Given the description of an element on the screen output the (x, y) to click on. 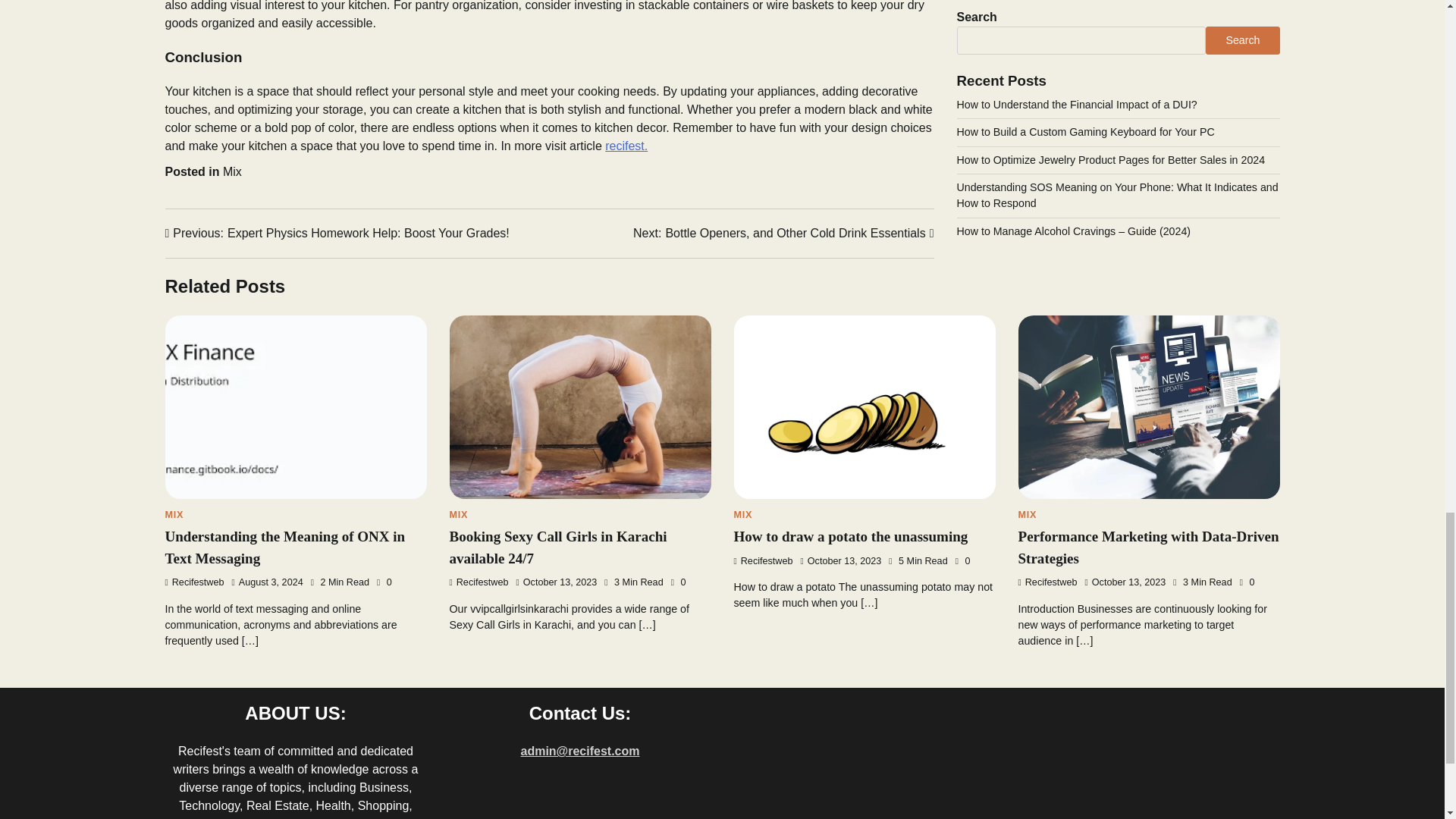
Mix (231, 171)
How to draw a potato the unassuming (850, 536)
MIX (457, 514)
MIX (742, 514)
Understanding the Meaning of ONX in Text Messaging (337, 233)
Recifestweb (285, 547)
Recifestweb (783, 233)
MIX (478, 582)
